Given the description of an element on the screen output the (x, y) to click on. 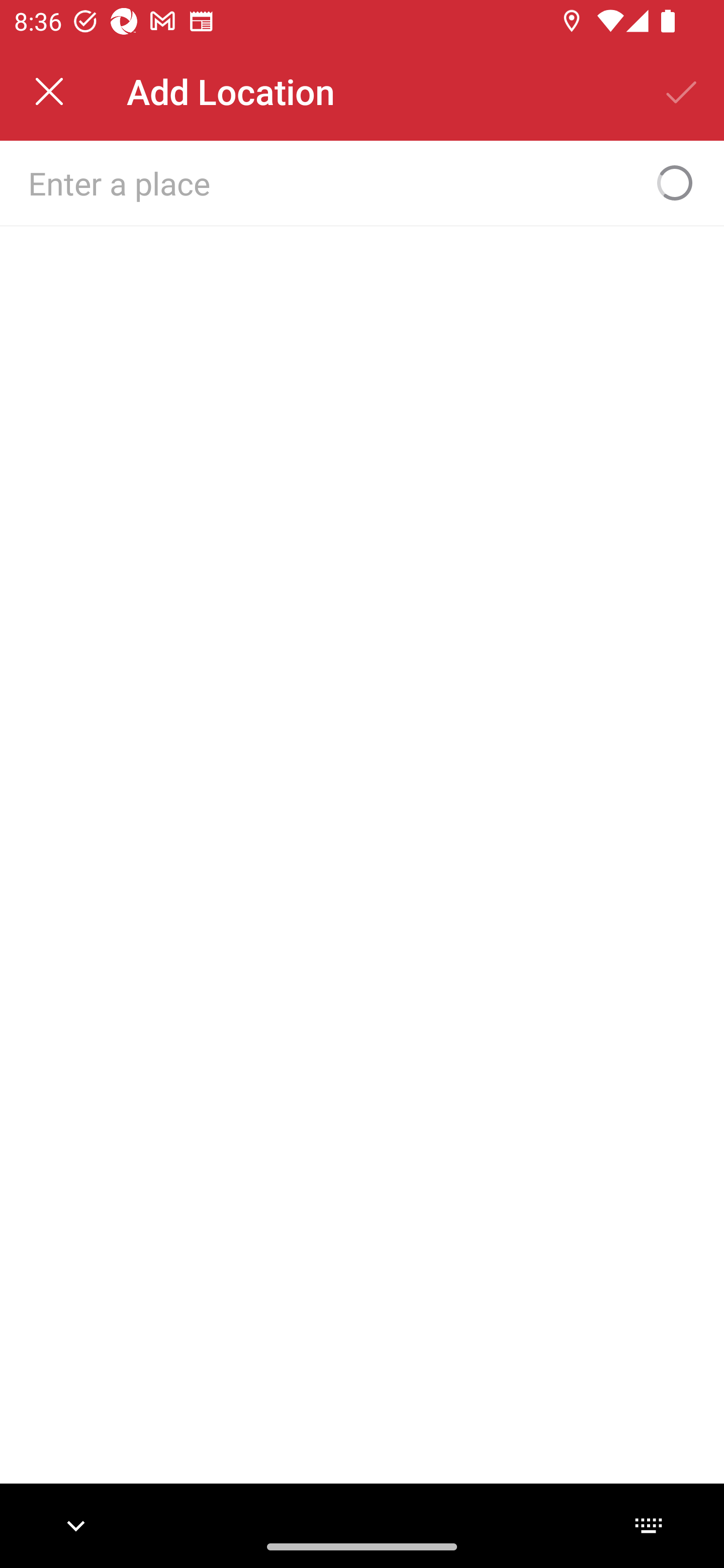
Close (49, 91)
Done (681, 91)
Enter a place (330, 182)
